Given the description of an element on the screen output the (x, y) to click on. 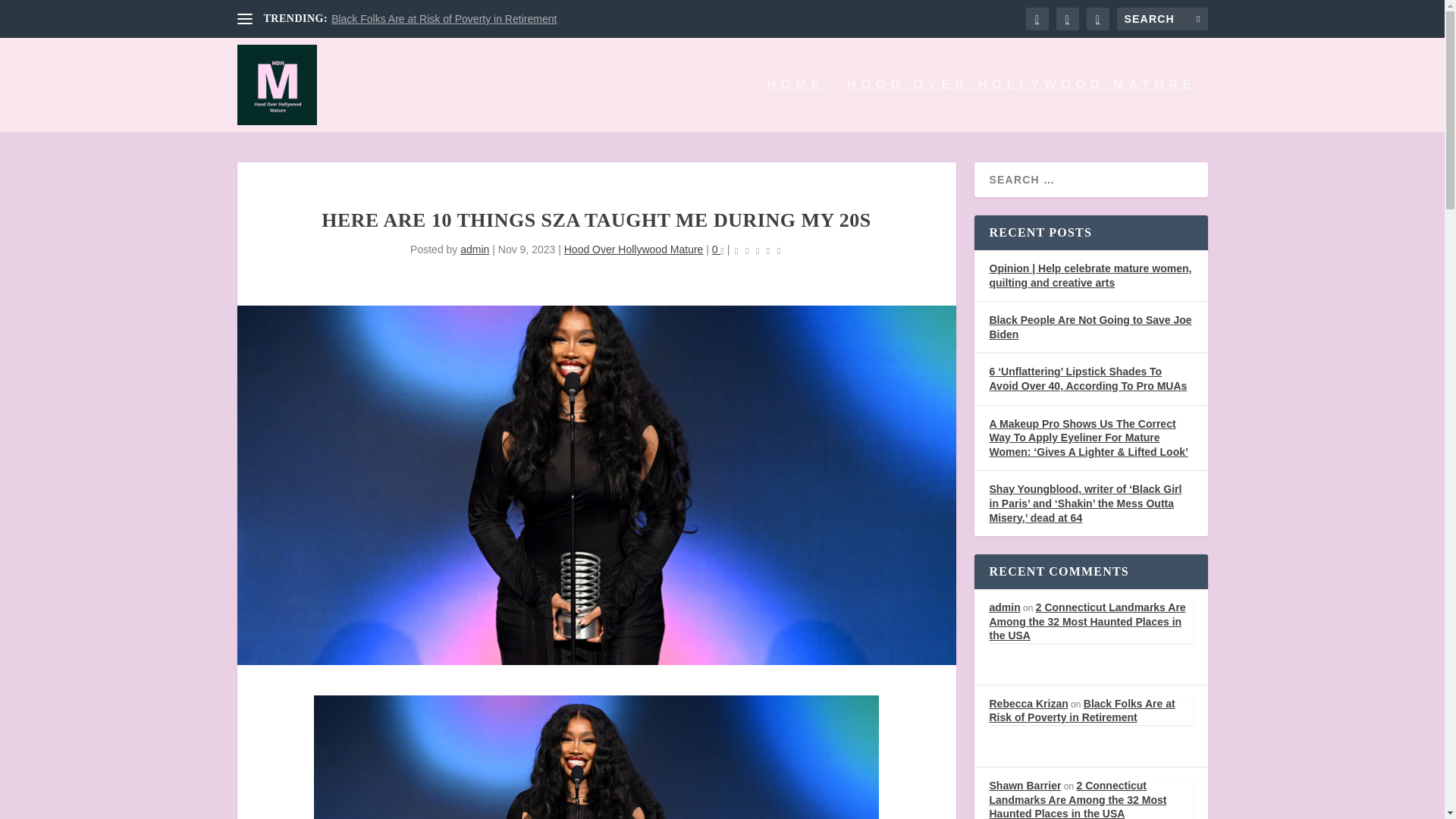
HOOD OVER HOLLYWOOD MATURE (1021, 104)
HOME (795, 104)
Black Folks Are at Risk of Poverty in Retirement (443, 19)
Hood Over Hollywood Mature (633, 249)
0 (717, 249)
Search for: (1161, 18)
admin (474, 249)
Rating: 0.00 (757, 250)
Posts by admin (474, 249)
